Given the description of an element on the screen output the (x, y) to click on. 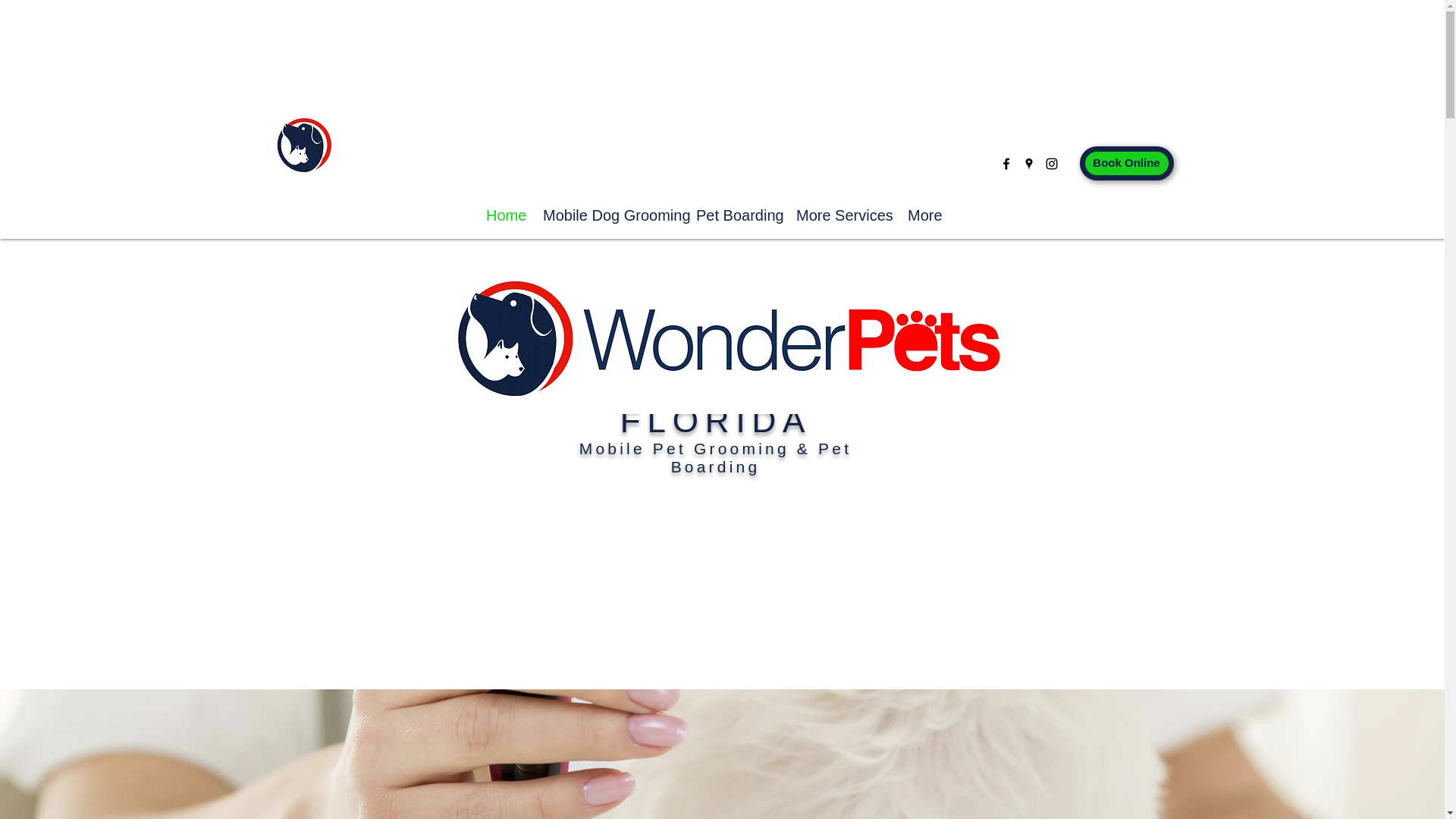
Pet Boarding (734, 214)
Mobile Dog Grooming (607, 214)
Book Online (1126, 163)
Share (1044, 254)
More Services (840, 214)
Share (1044, 254)
Home (502, 214)
